Given the description of an element on the screen output the (x, y) to click on. 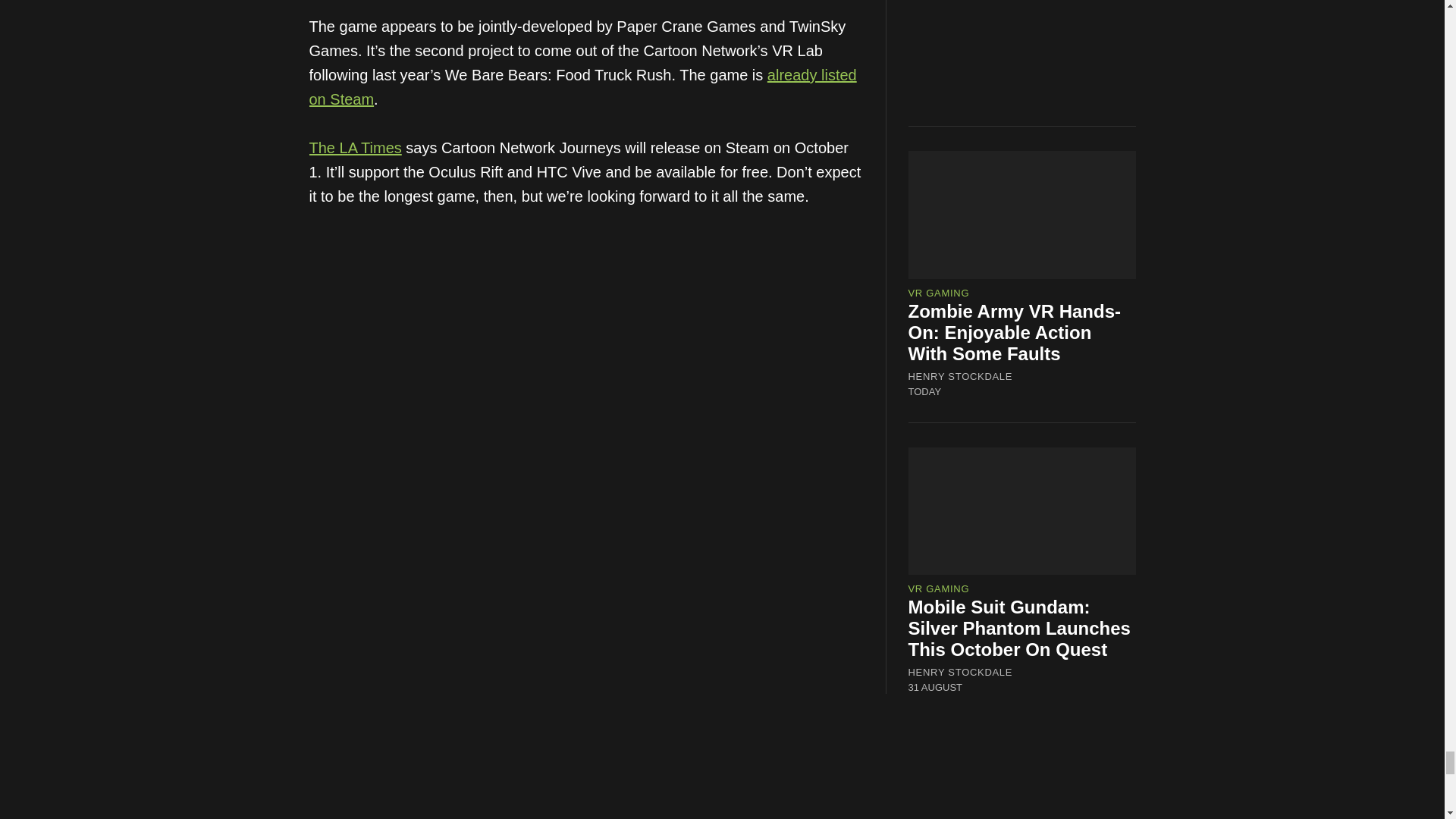
Zombie Army VR Hands-On: Enjoyable Action With Some Faults (1014, 331)
The LA Times (354, 147)
HENRY STOCKDALE (960, 672)
already listed on Steam (582, 86)
HENRY STOCKDALE (960, 376)
VR GAMING (938, 588)
VR GAMING (938, 292)
